Given the description of an element on the screen output the (x, y) to click on. 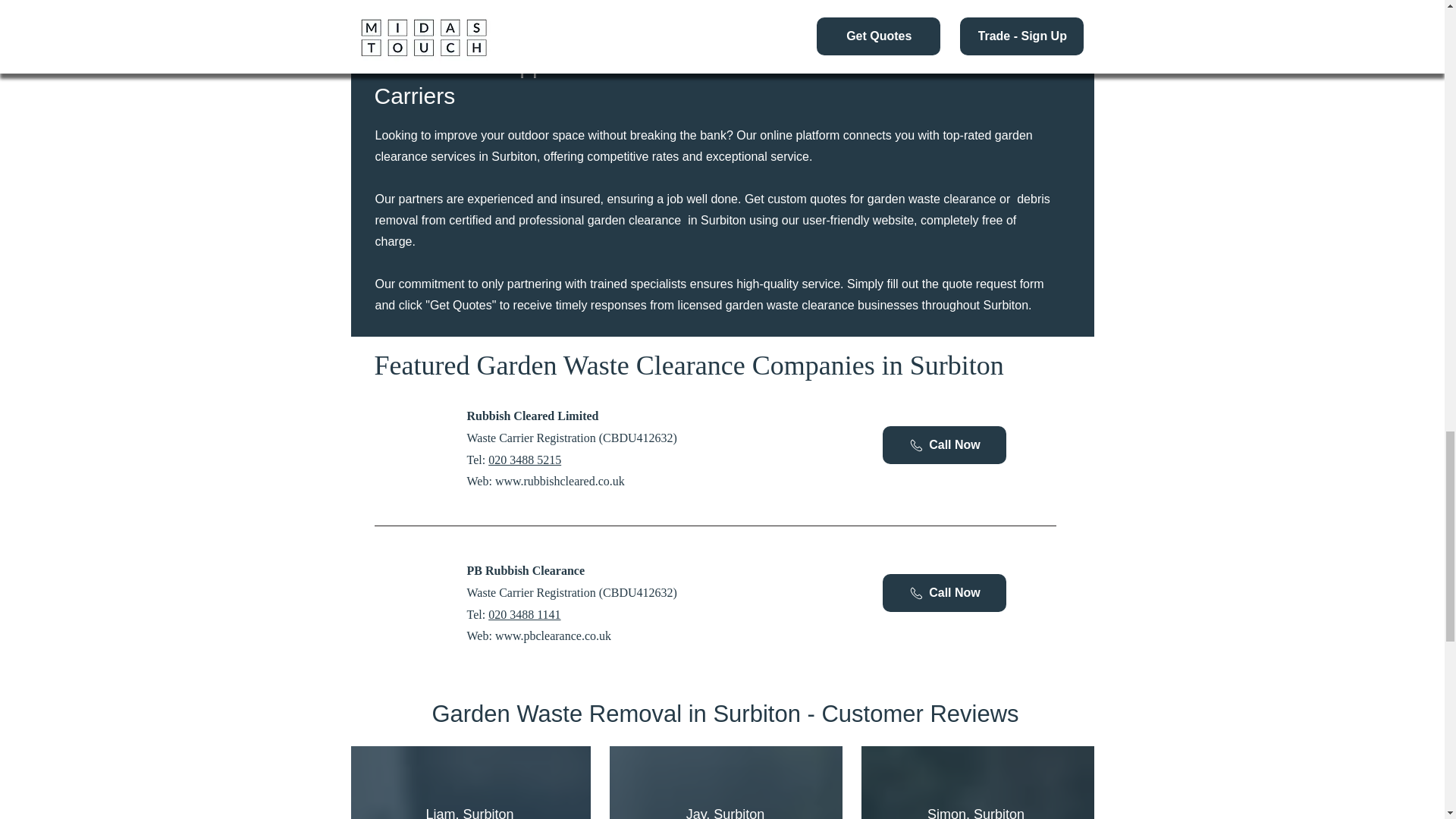
Call Now (944, 444)
www.rubbishcleared.co.uk (559, 481)
Call Now (944, 592)
020 3488 1141 (523, 614)
020 3488 5215 (523, 459)
www.pbclearance.co.uk (553, 635)
